Given the description of an element on the screen output the (x, y) to click on. 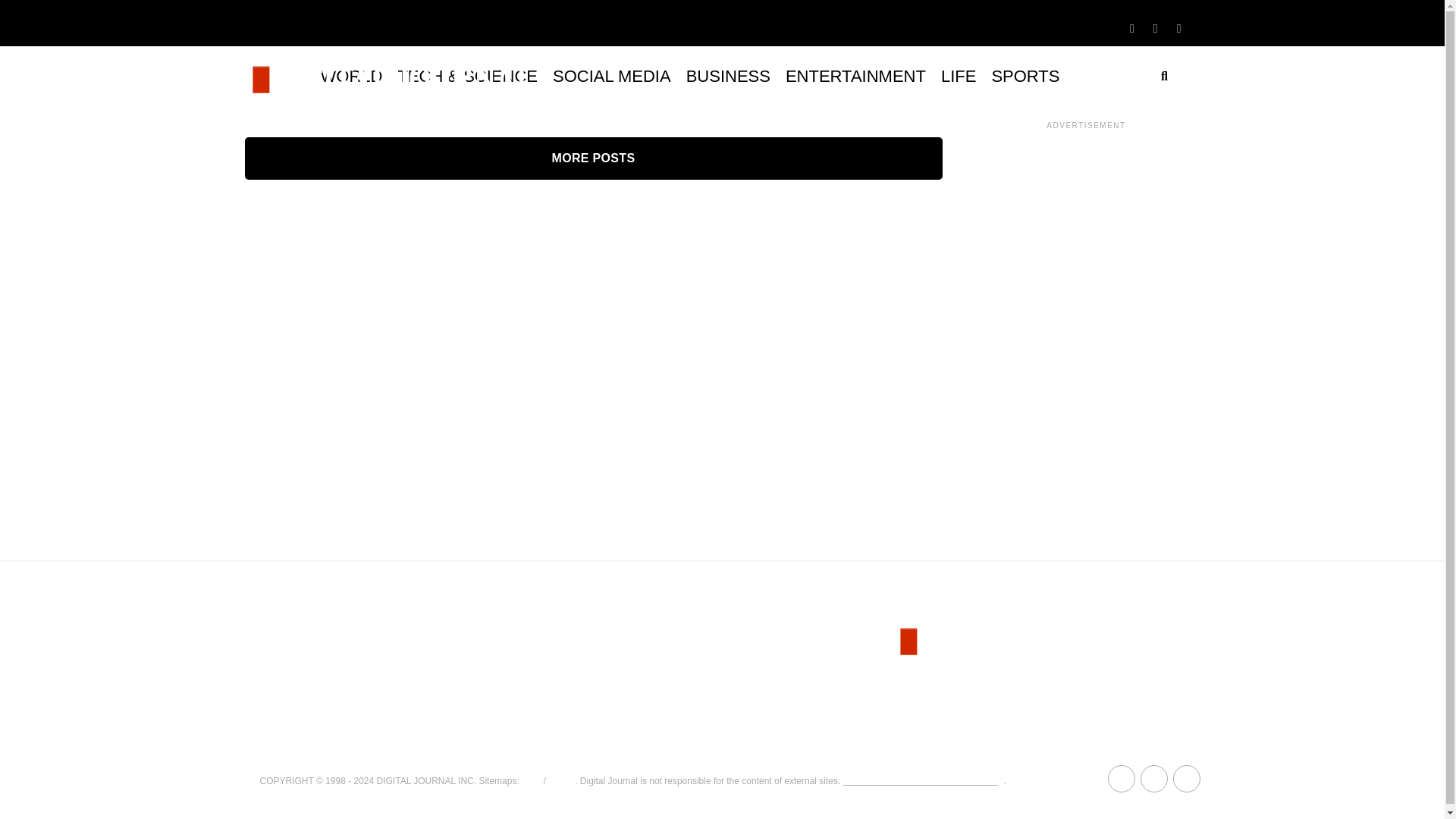
Read more about our external linking (923, 779)
NEWS PARTNER: AFP (638, 675)
FEATURED: PRODIGY PRESS WIRE (677, 655)
SOCIAL MEDIA (611, 76)
MORE POSTS (593, 158)
XML (530, 779)
TERMS OF USE (301, 694)
ENTERTAINMENT (855, 76)
BUSINESS (727, 76)
CONTACT US (295, 734)
SPONSORED CONTENT (326, 675)
ALL PRESS RELEASES (641, 694)
FEATURED: ACCESSWIRE (651, 635)
News (560, 779)
WORLD (351, 76)
